Given the description of an element on the screen output the (x, y) to click on. 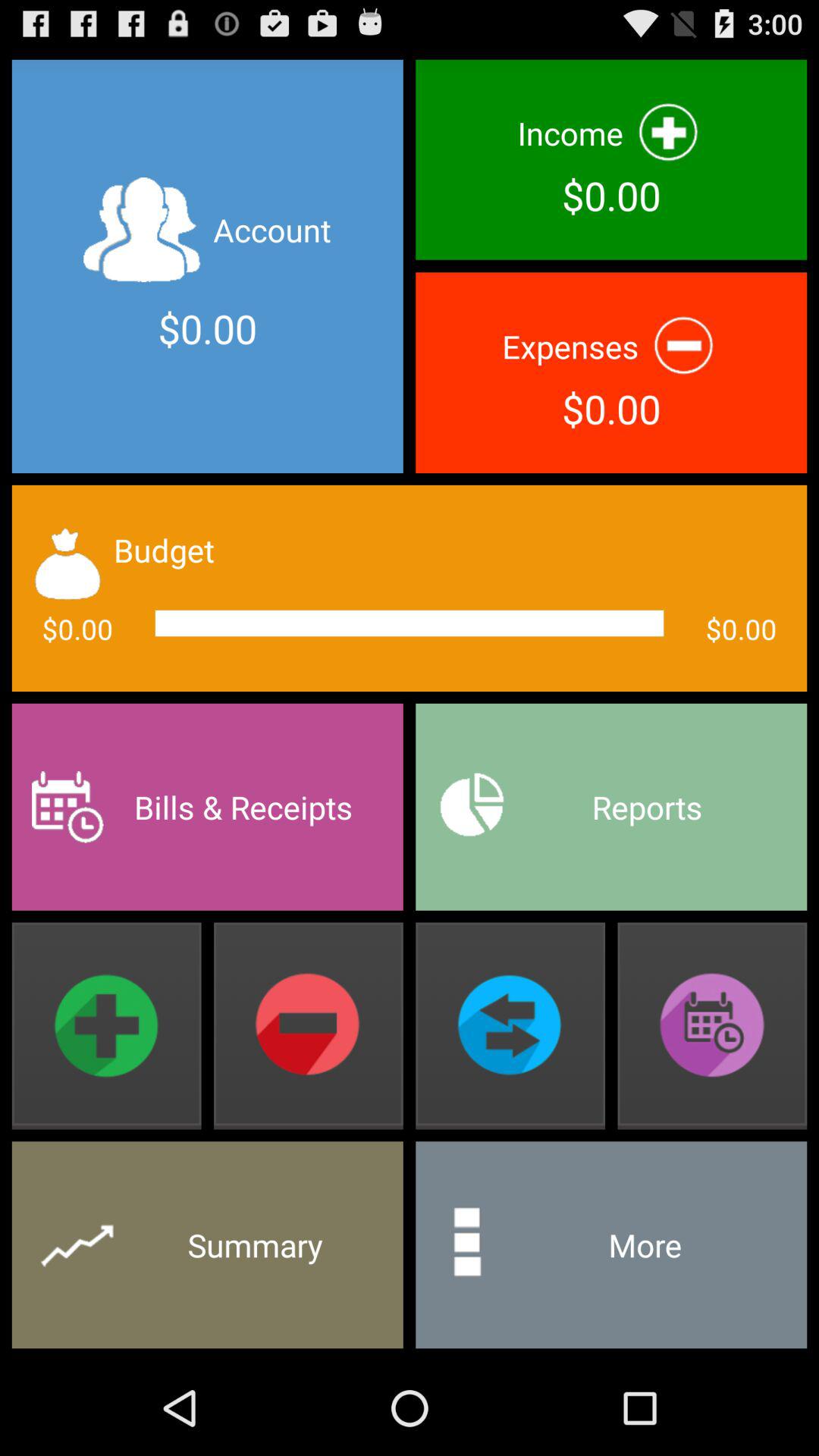
click the item above more item (712, 1025)
